Given the description of an element on the screen output the (x, y) to click on. 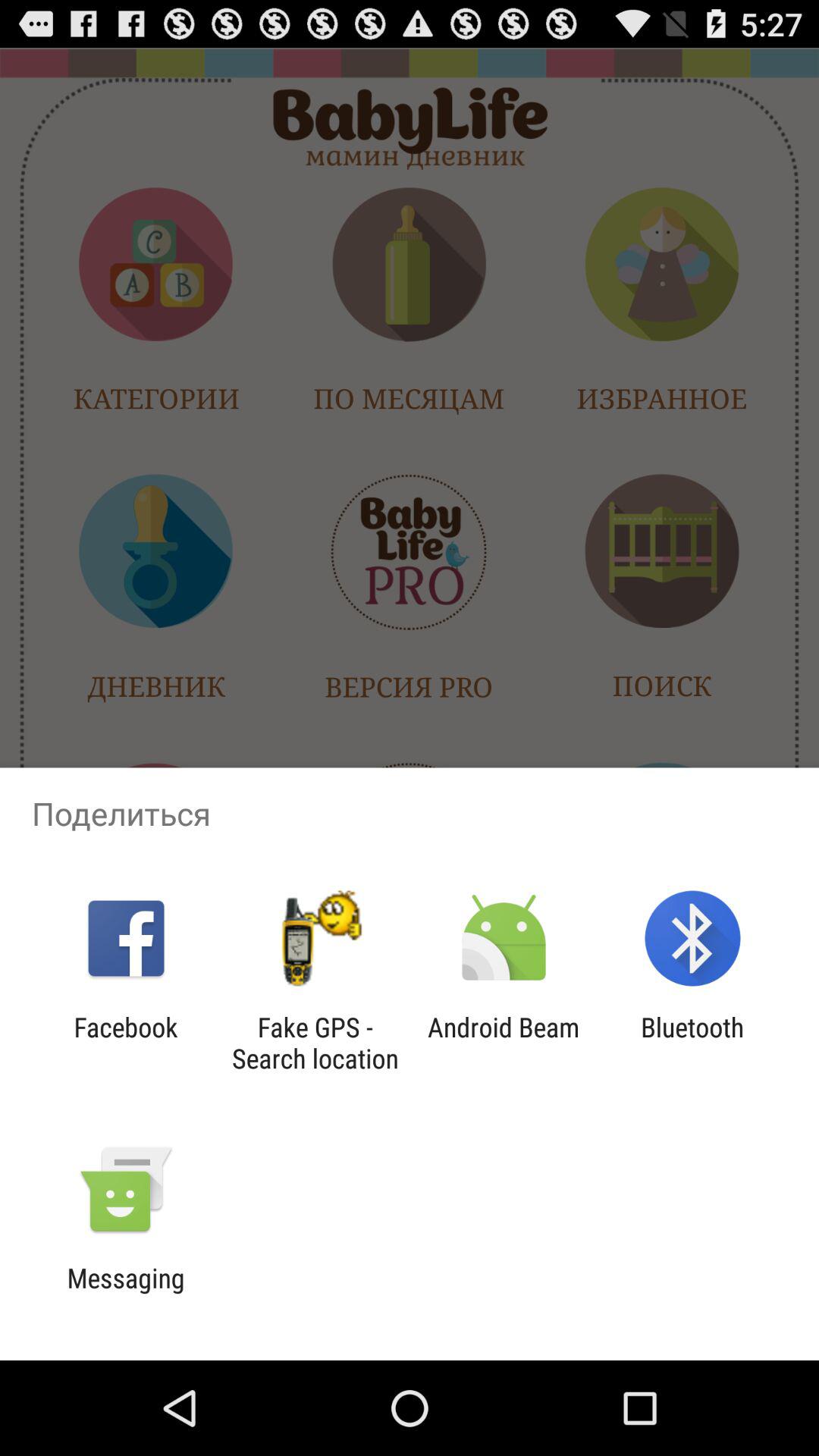
open the android beam app (503, 1042)
